Given the description of an element on the screen output the (x, y) to click on. 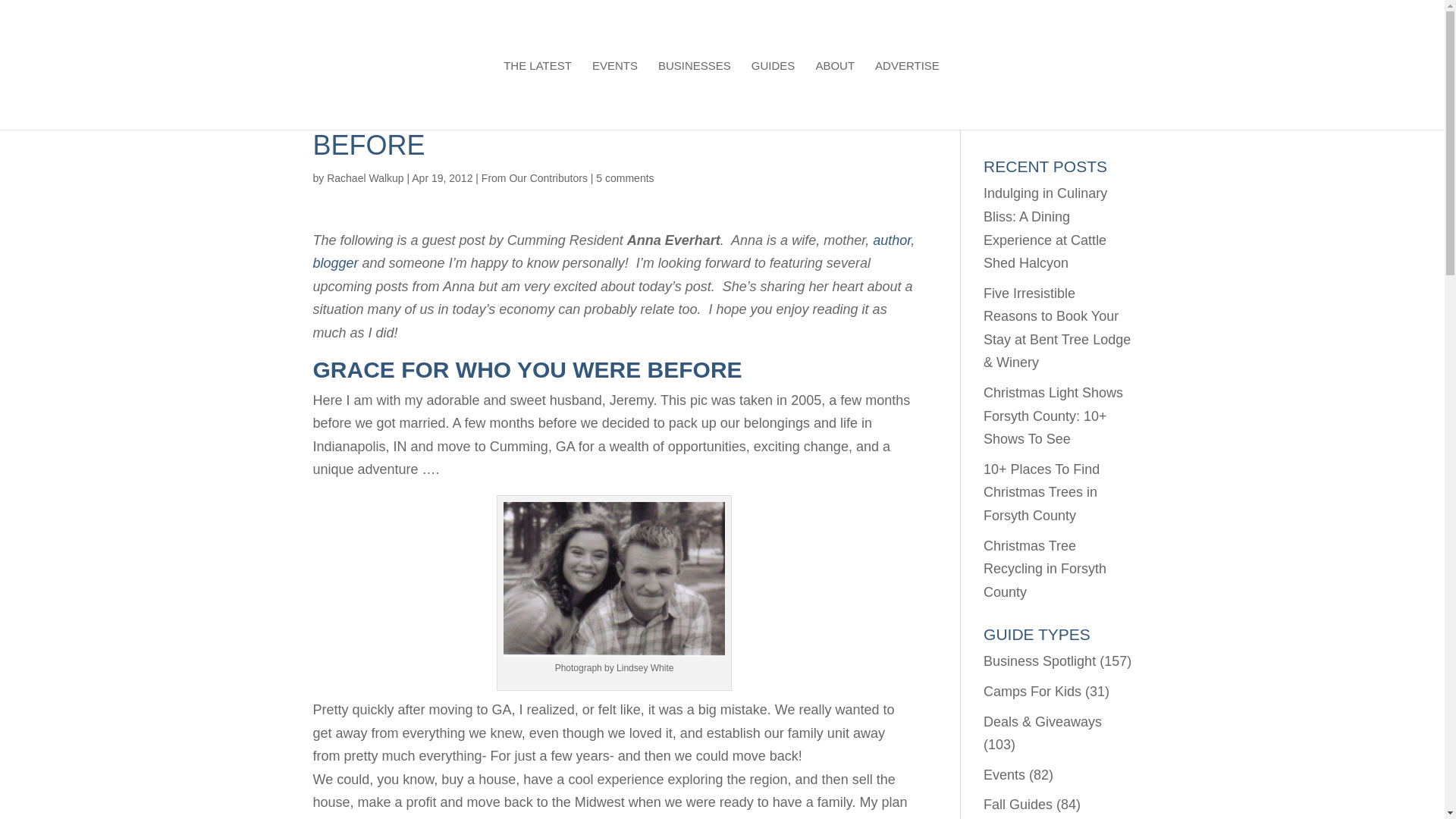
blogger (335, 263)
Events (1004, 774)
Business Spotlight (1040, 661)
Christmas Tree Recycling in Forsyth County (1045, 568)
Camps For Kids (1032, 691)
5 comments (624, 177)
Rachael Walkup (364, 177)
Fall Guides (1018, 804)
Posts by Rachael Walkup (364, 177)
